Given the description of an element on the screen output the (x, y) to click on. 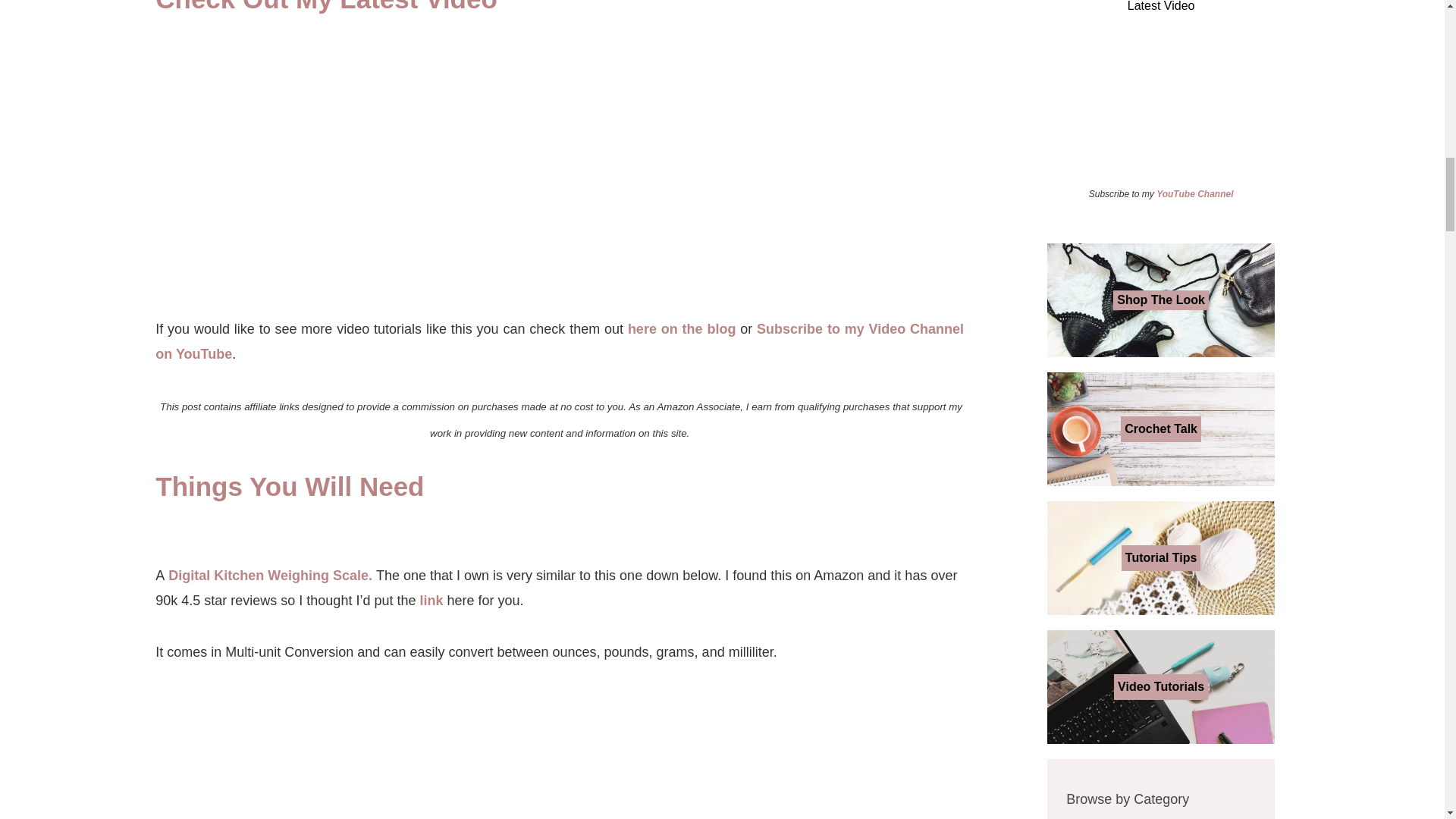
Subscribe to my Video Channel on YouTube (559, 341)
link (432, 600)
Digital Kitchen Weighing Scale. (269, 575)
here on the blog (681, 328)
